Given the description of an element on the screen output the (x, y) to click on. 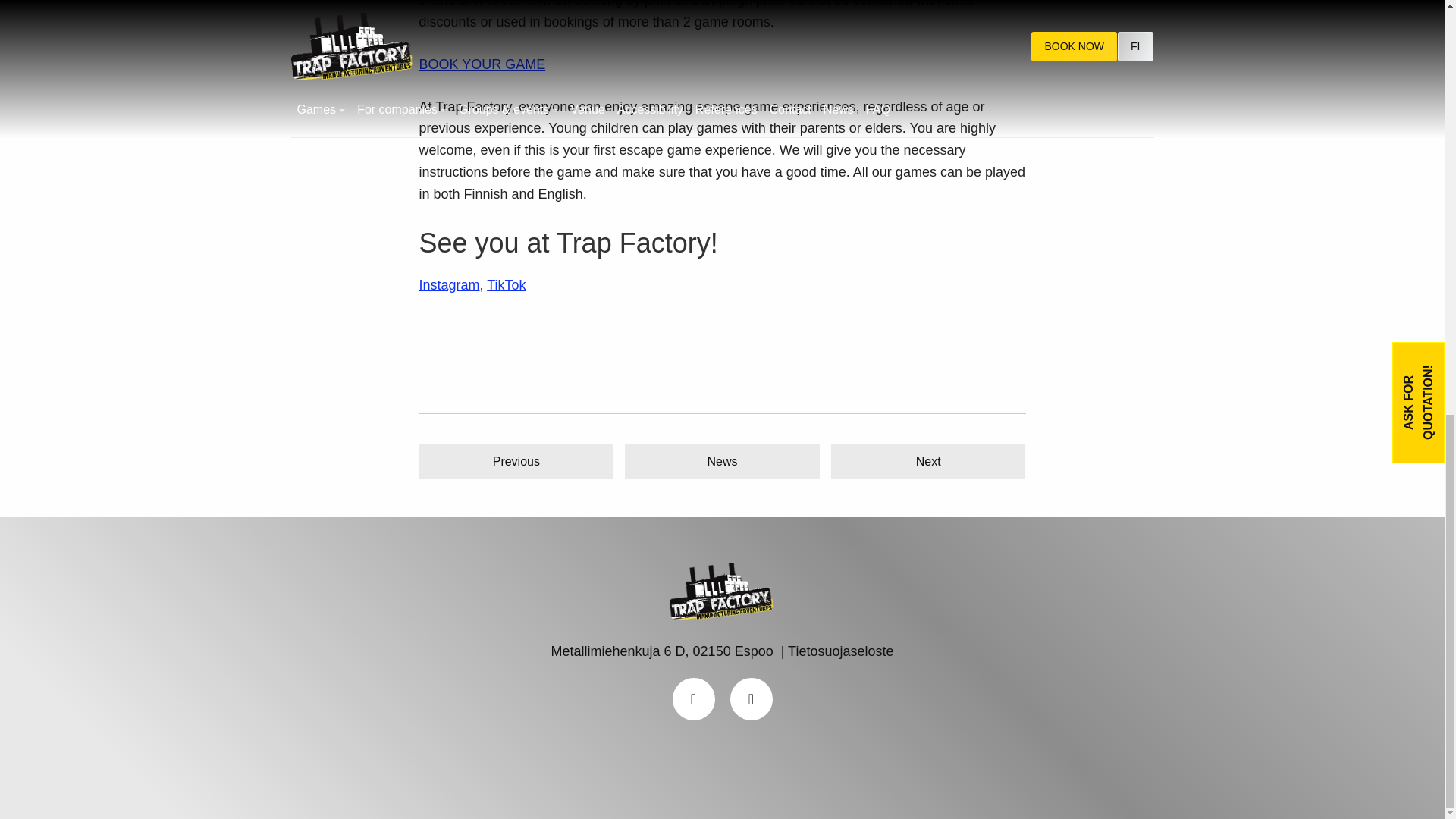
Previous (515, 461)
TikTok (505, 284)
News (721, 461)
BOOK YOUR GAME (481, 64)
Instagram (449, 284)
Next (928, 461)
